Given the description of an element on the screen output the (x, y) to click on. 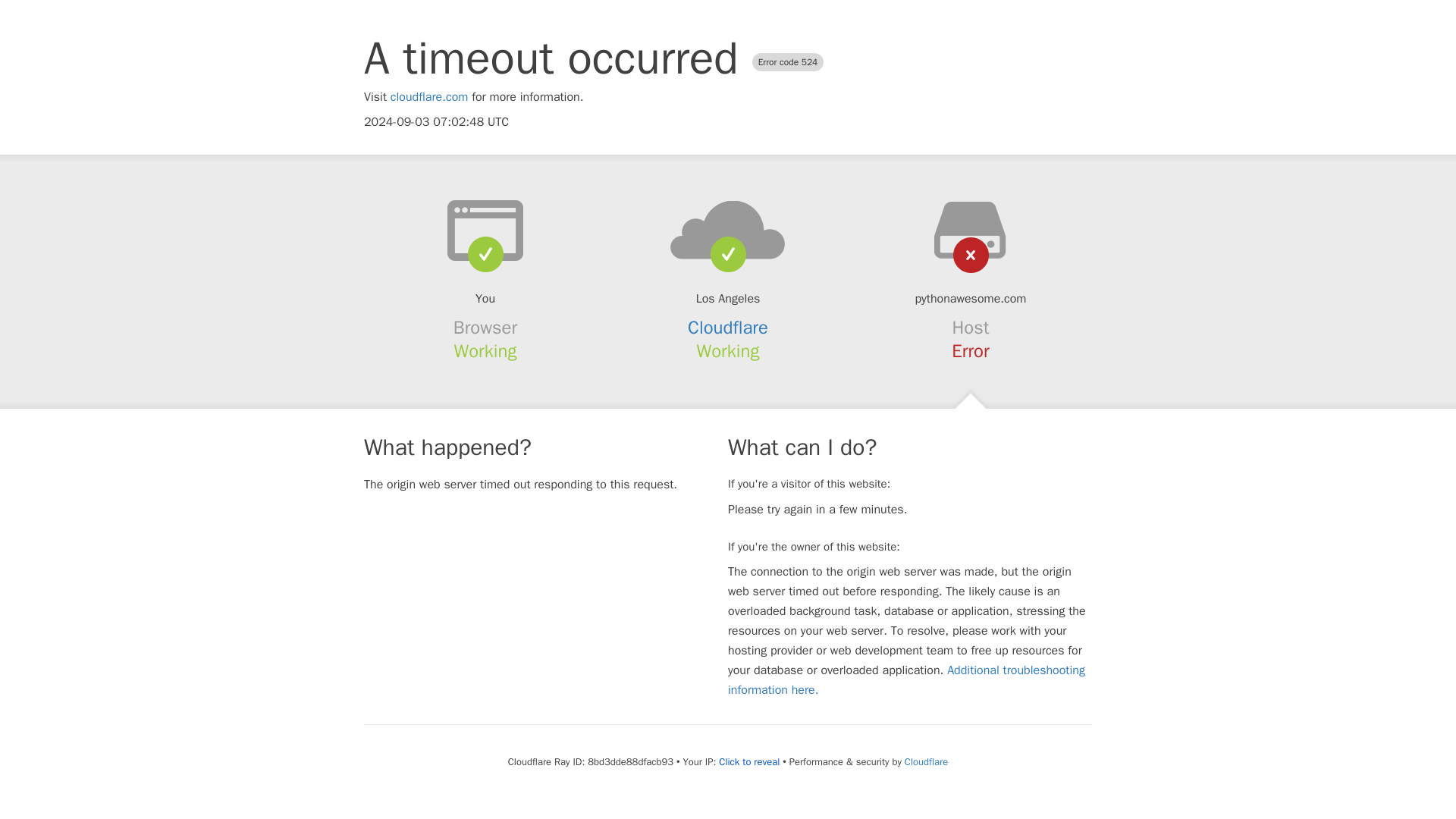
Click to reveal (748, 762)
Cloudflare (925, 761)
Additional troubleshooting information here. (906, 679)
Cloudflare (727, 327)
cloudflare.com (429, 96)
